Given the description of an element on the screen output the (x, y) to click on. 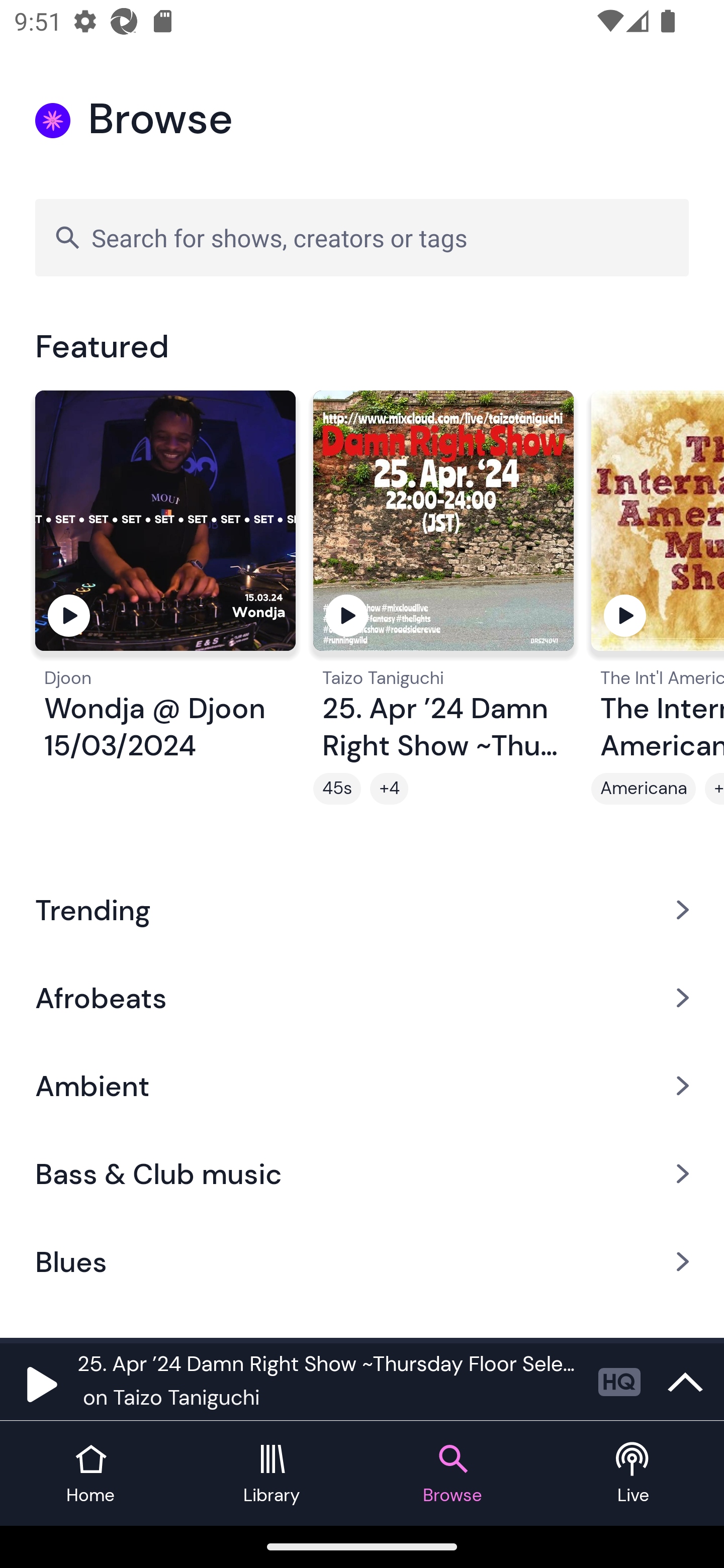
Search for shows, creators or tags (361, 237)
45s (337, 788)
Americana (643, 788)
Trending (361, 909)
Afrobeats (361, 997)
Ambient (361, 1085)
Bass & Club music (361, 1174)
Blues (361, 1262)
Home tab Home (90, 1473)
Library tab Library (271, 1473)
Browse tab Browse (452, 1473)
Live tab Live (633, 1473)
